Given the description of an element on the screen output the (x, y) to click on. 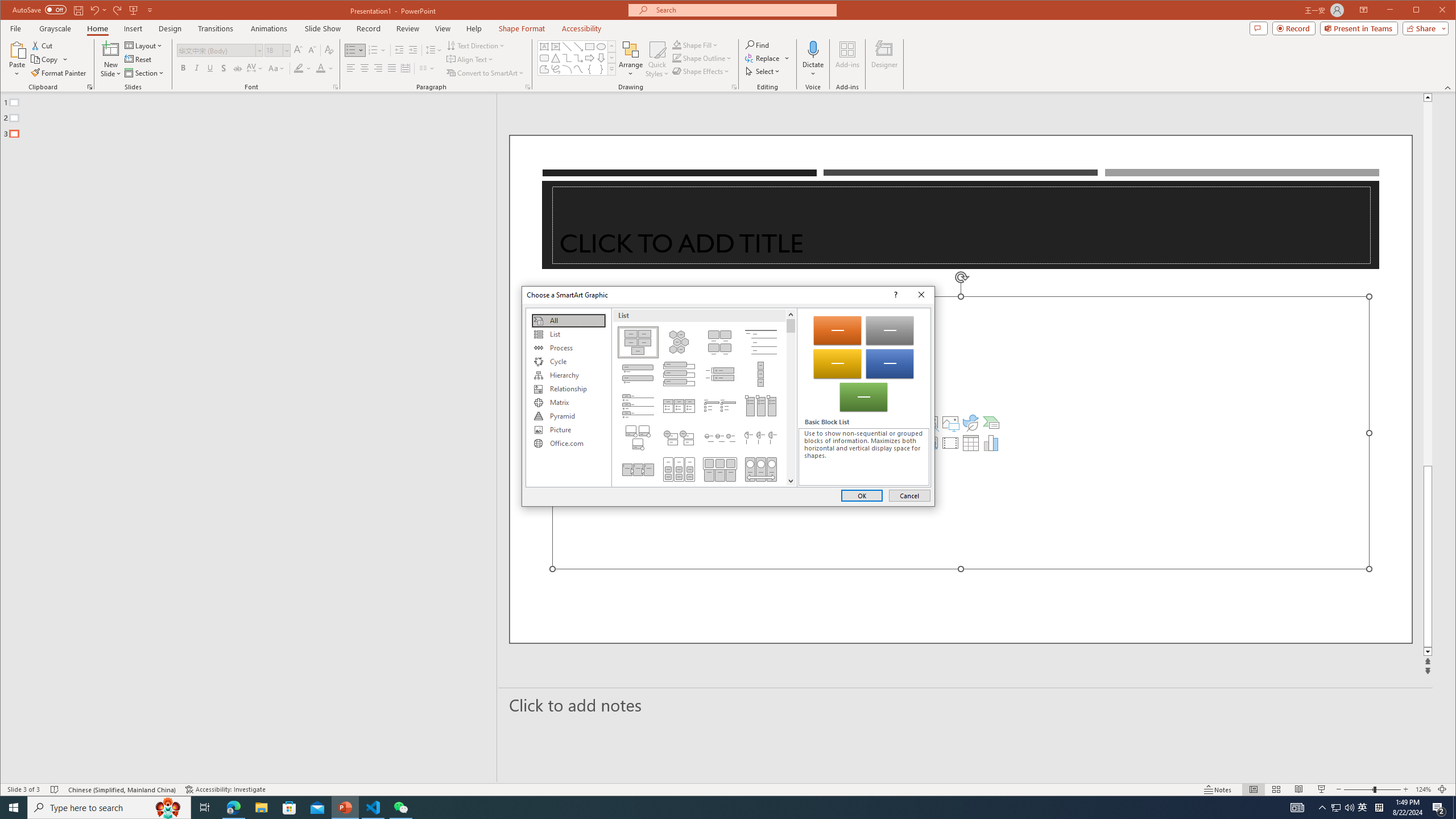
Shape Outline Blue, Accent 1 (676, 57)
Picture (568, 429)
Square Accent List (719, 405)
Horizontal Bullet List (678, 405)
Slide Notes (965, 704)
